Given the description of an element on the screen output the (x, y) to click on. 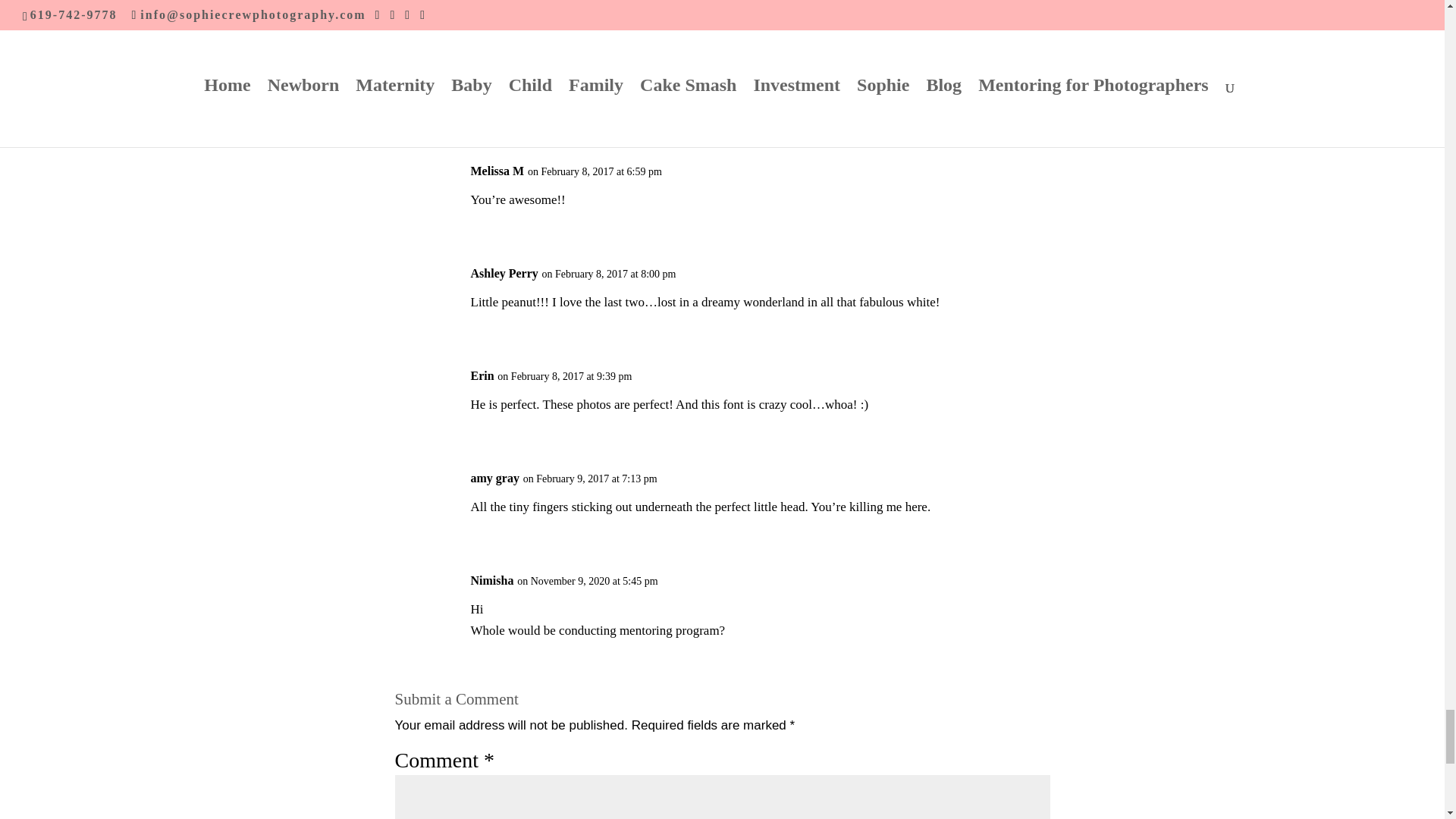
Ashley Perry (503, 273)
